Given the description of an element on the screen output the (x, y) to click on. 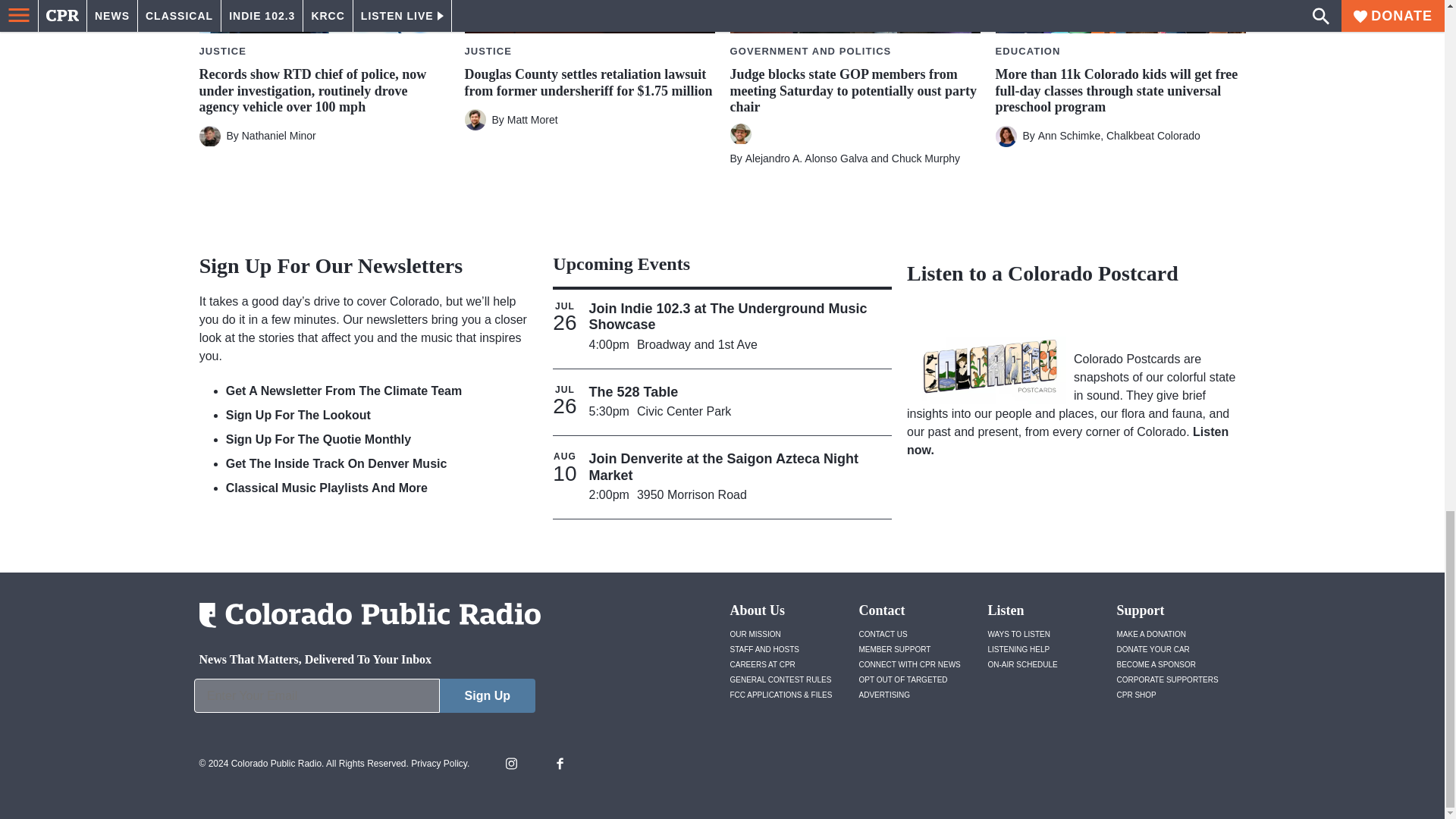
footer (364, 699)
